Given the description of an element on the screen output the (x, y) to click on. 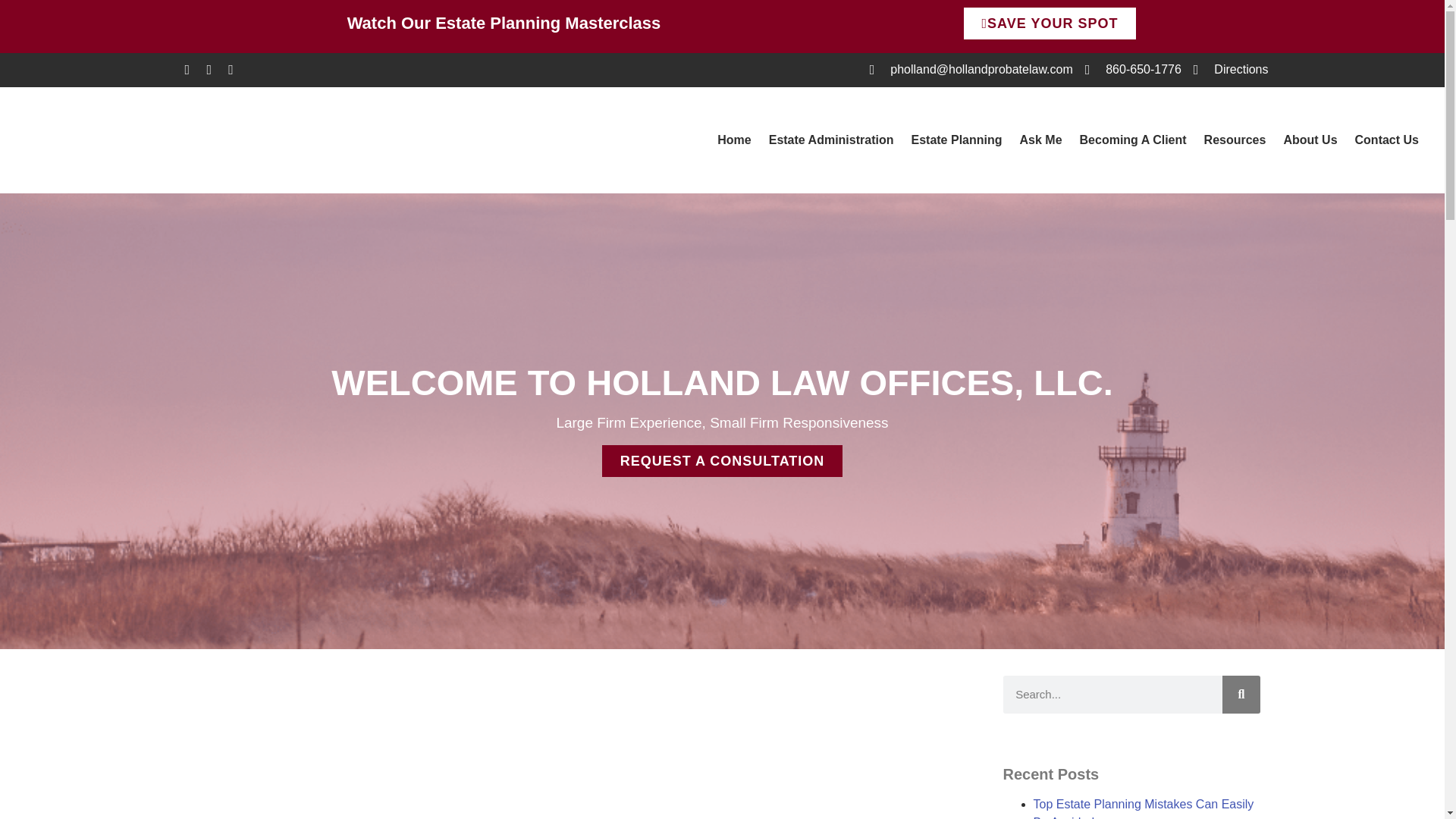
SAVE YOUR SPOT (1050, 23)
Home (734, 139)
Contact Us (1387, 139)
Estate Administration (830, 139)
Becoming A Client (1133, 139)
Resources (1235, 139)
860-650-1776 (1132, 69)
Estate Planning (955, 139)
Ask Me (1040, 139)
Directions (1230, 69)
About Us (1309, 139)
